Given the description of an element on the screen output the (x, y) to click on. 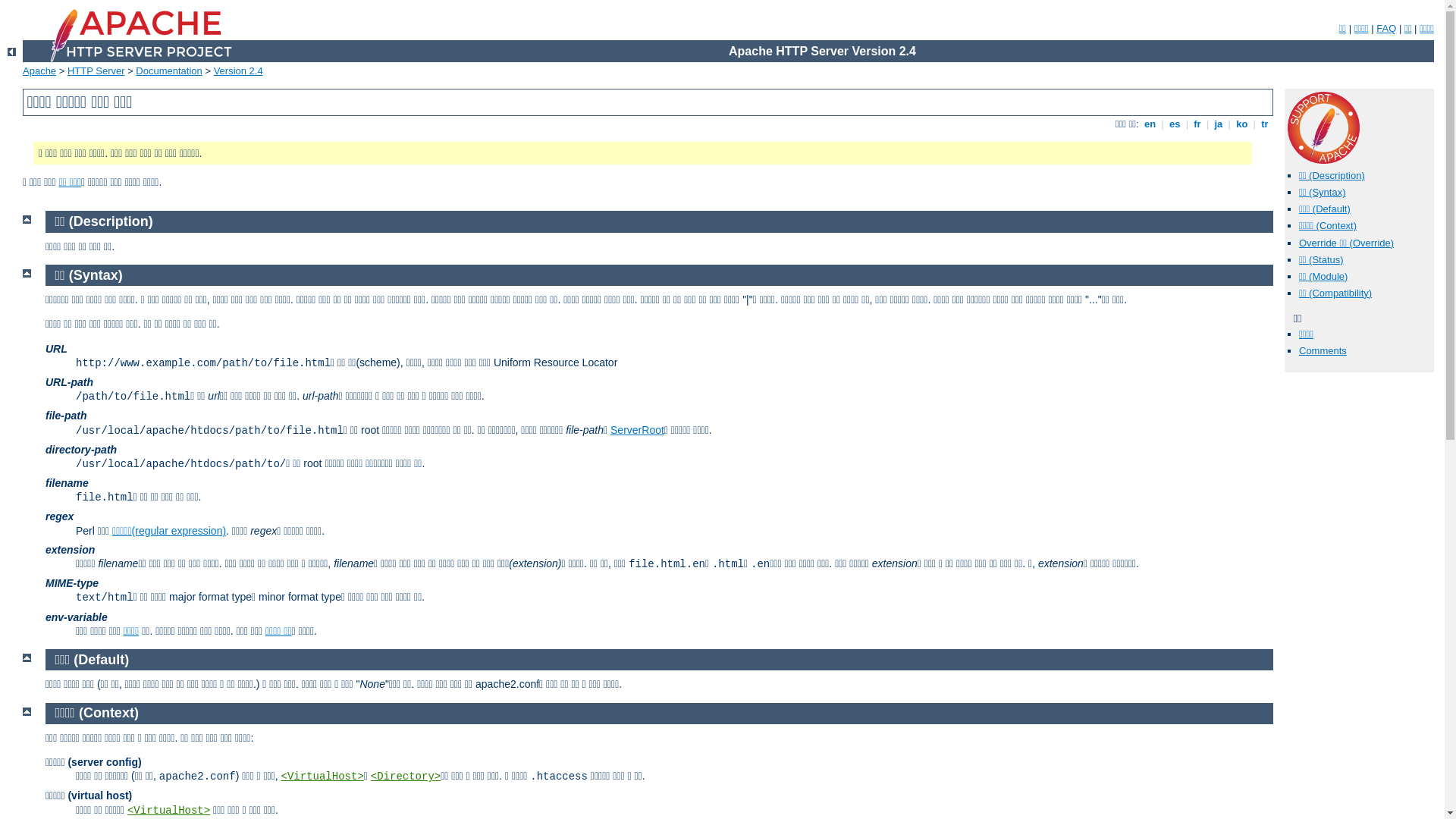
<VirtualHost> Element type: text (322, 776)
 ja  Element type: text (1218, 123)
 tr  Element type: text (1264, 123)
FAQ Element type: text (1386, 28)
Version 2.4 Element type: text (238, 70)
Documentation Element type: text (168, 70)
 en  Element type: text (1149, 123)
ServerRoot Element type: text (637, 429)
 es  Element type: text (1174, 123)
HTTP Server Element type: text (96, 70)
 fr  Element type: text (1197, 123)
Comments Element type: text (1322, 350)
<Directory> Element type: text (405, 776)
 ko  Element type: text (1241, 123)
Apache Element type: text (39, 70)
<VirtualHost> Element type: text (168, 810)
<- Element type: hover (11, 51)
